Given the description of an element on the screen output the (x, y) to click on. 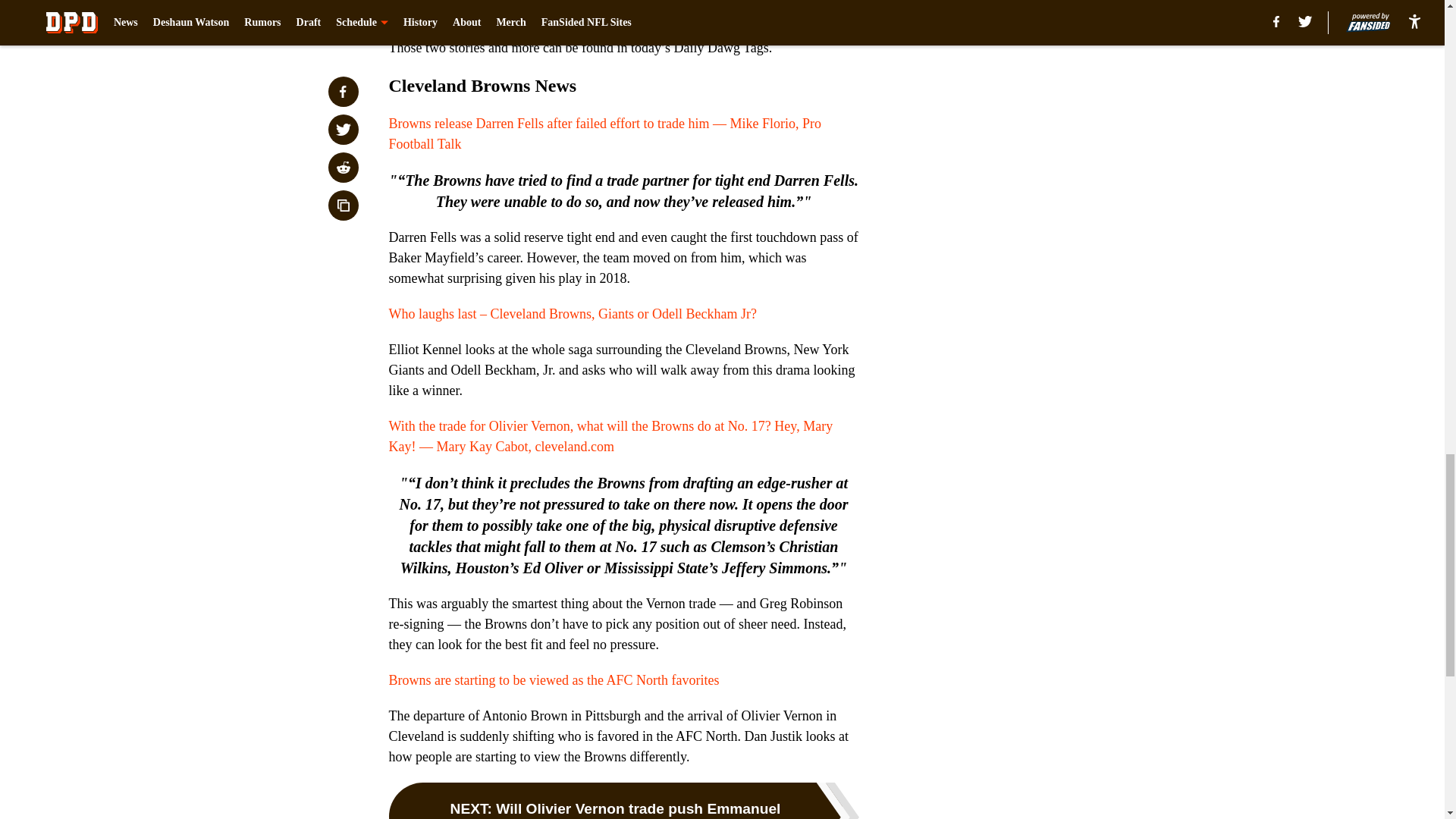
NEXT: Will Olivier Vernon trade push Emmanuel Ogbah out? (623, 800)
Browns are starting to be viewed as the AFC North favorites (553, 679)
